Given the description of an element on the screen output the (x, y) to click on. 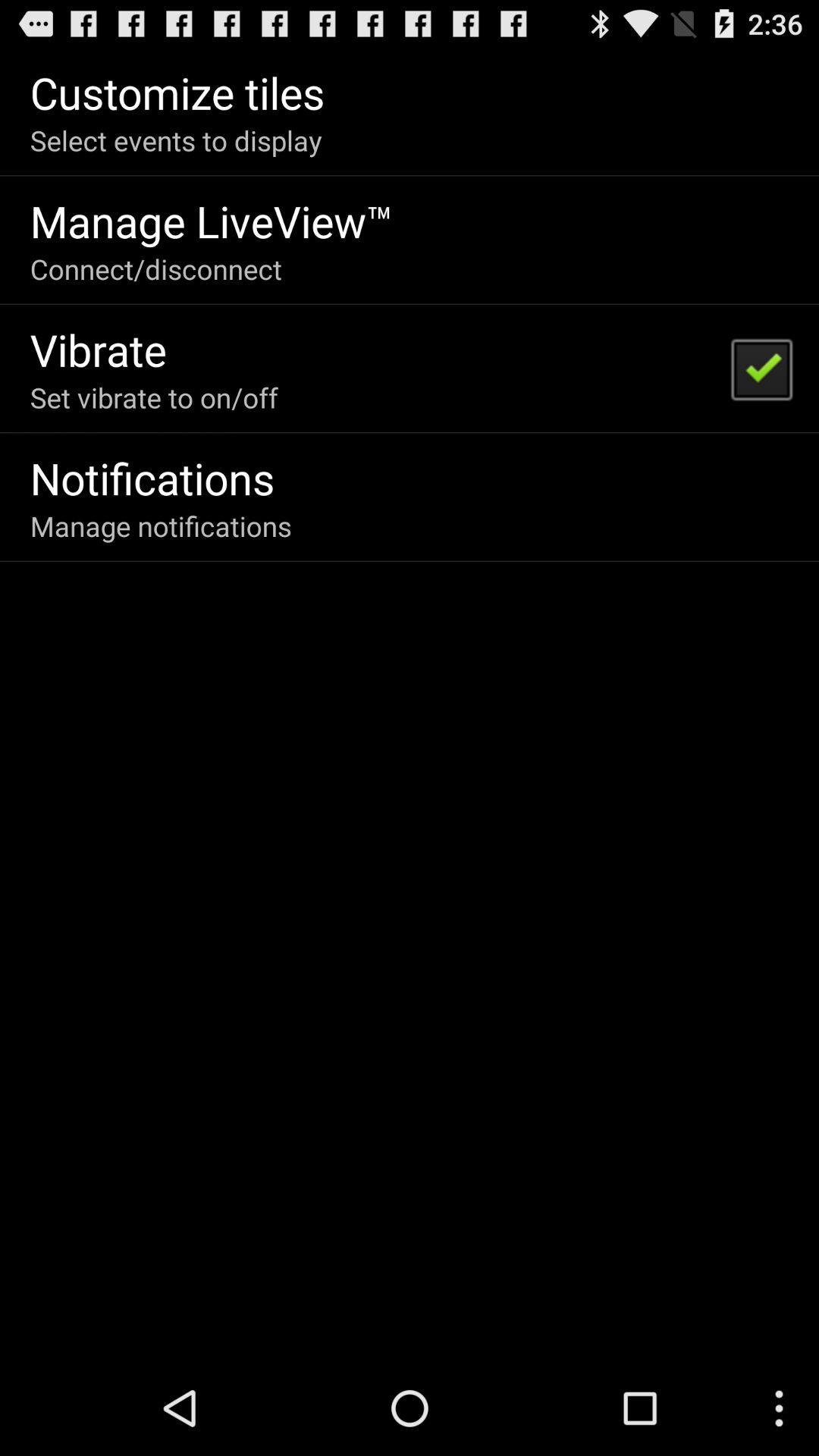
turn off the app above the vibrate app (156, 268)
